Given the description of an element on the screen output the (x, y) to click on. 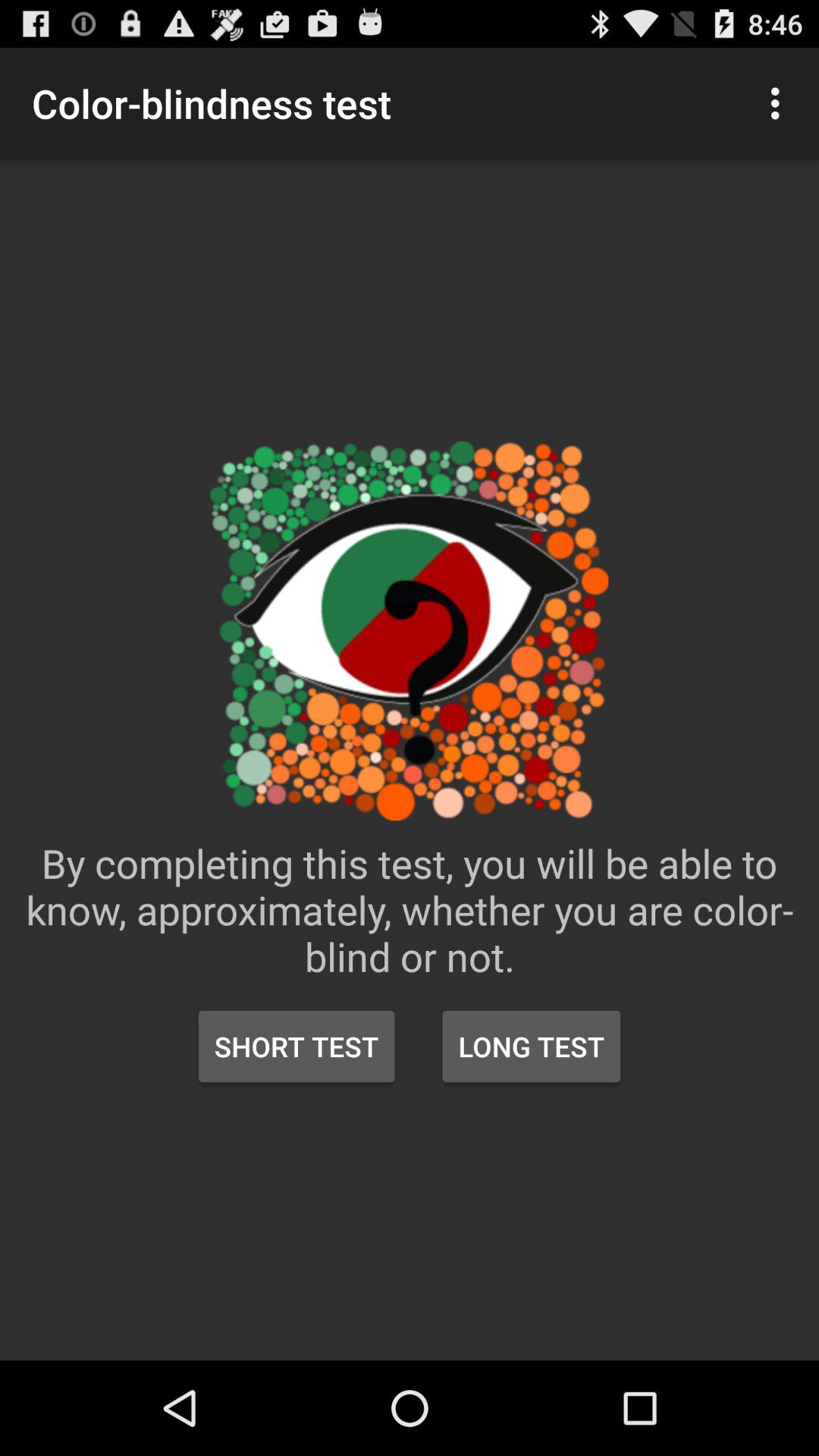
choose the icon next to long test icon (296, 1046)
